Given the description of an element on the screen output the (x, y) to click on. 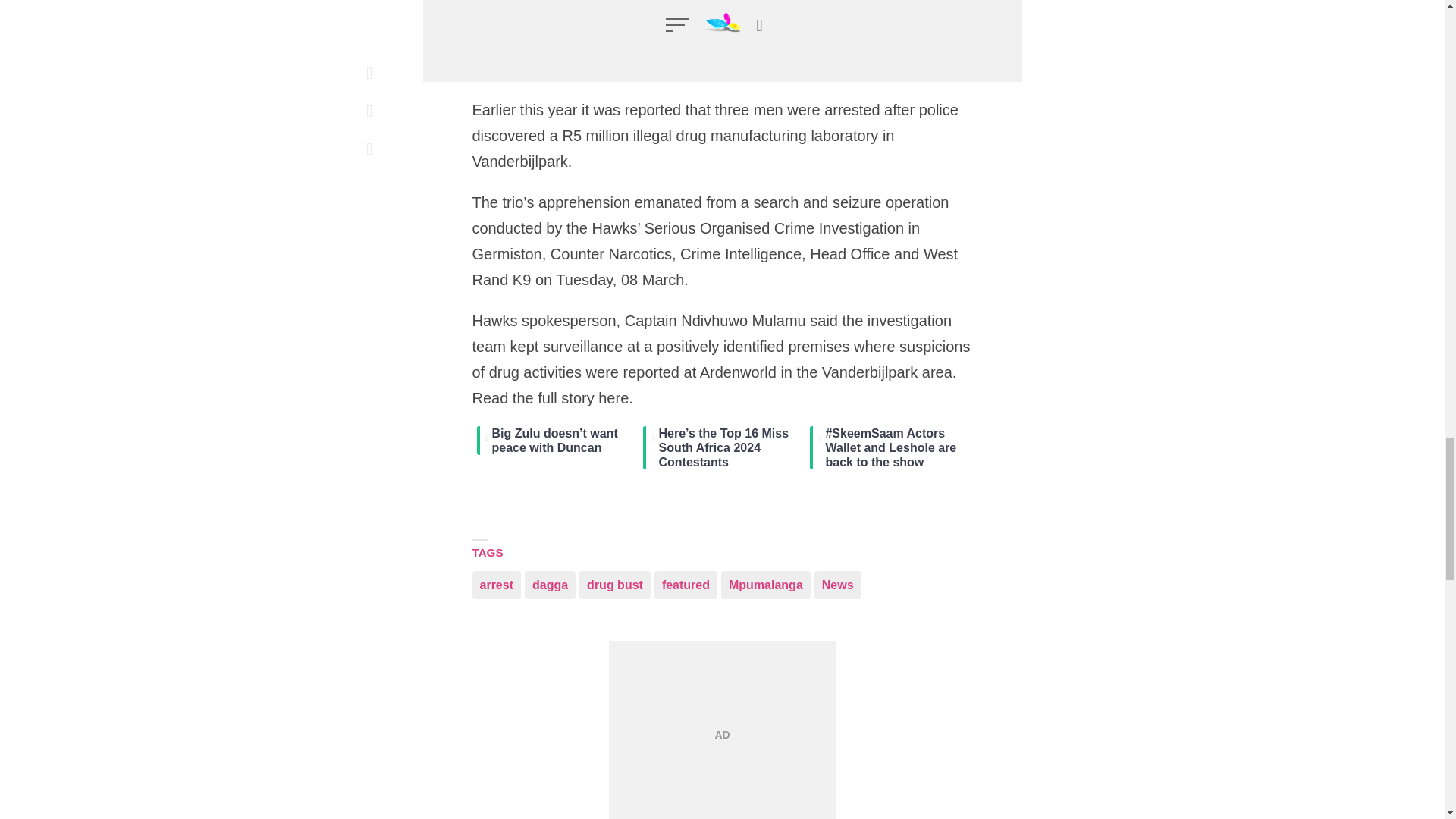
Mpumalanga (765, 584)
News (837, 584)
drug bust (614, 584)
featured (685, 584)
arrest (495, 584)
dagga (549, 584)
